Given the description of an element on the screen output the (x, y) to click on. 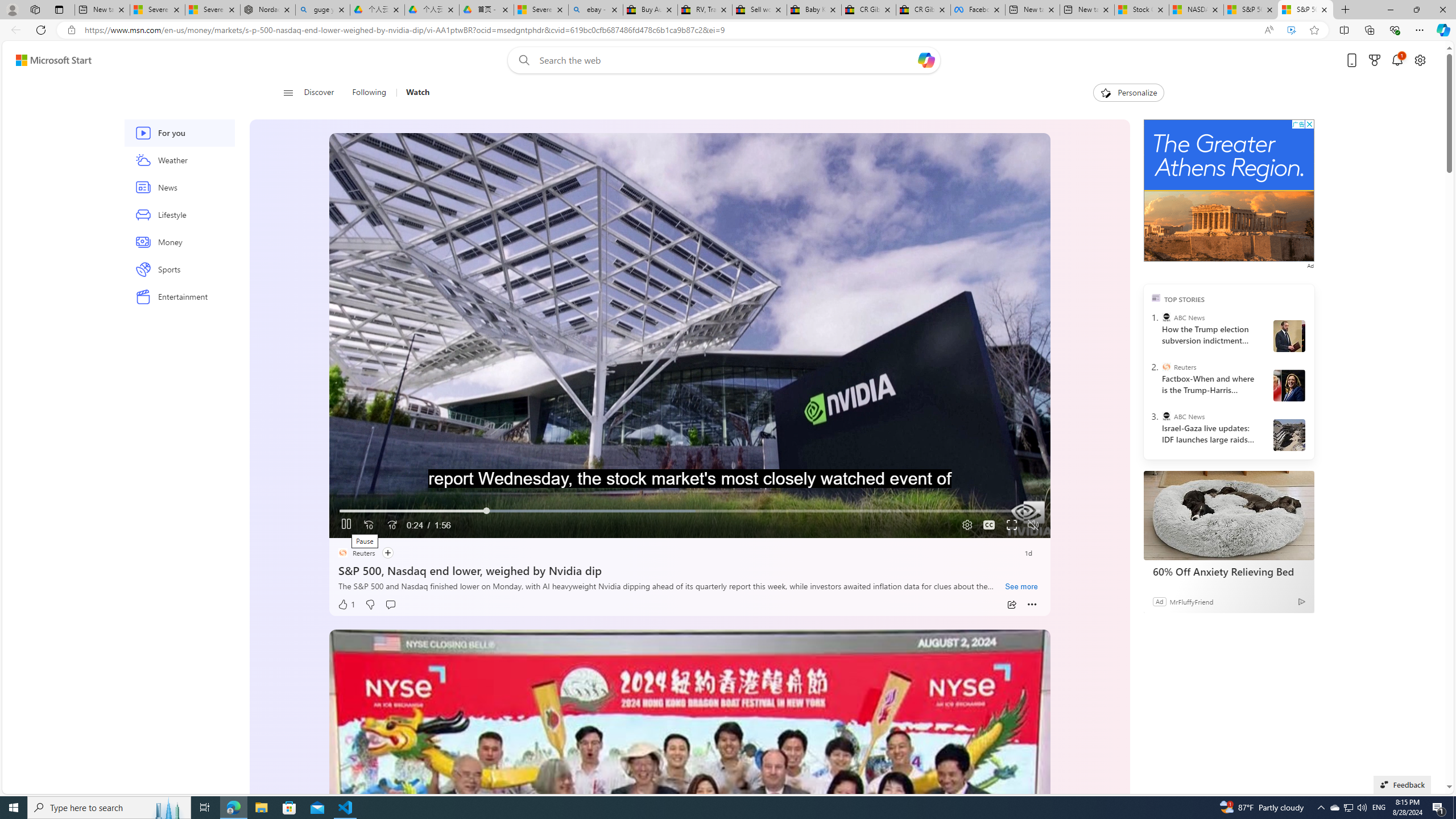
Baby Keepsakes & Announcements for sale | eBay (813, 9)
60% Off Anxiety Relieving Bed (1228, 515)
Personalize (1128, 92)
Fullscreen (1011, 525)
Class: button-glyph (287, 92)
